Given the description of an element on the screen output the (x, y) to click on. 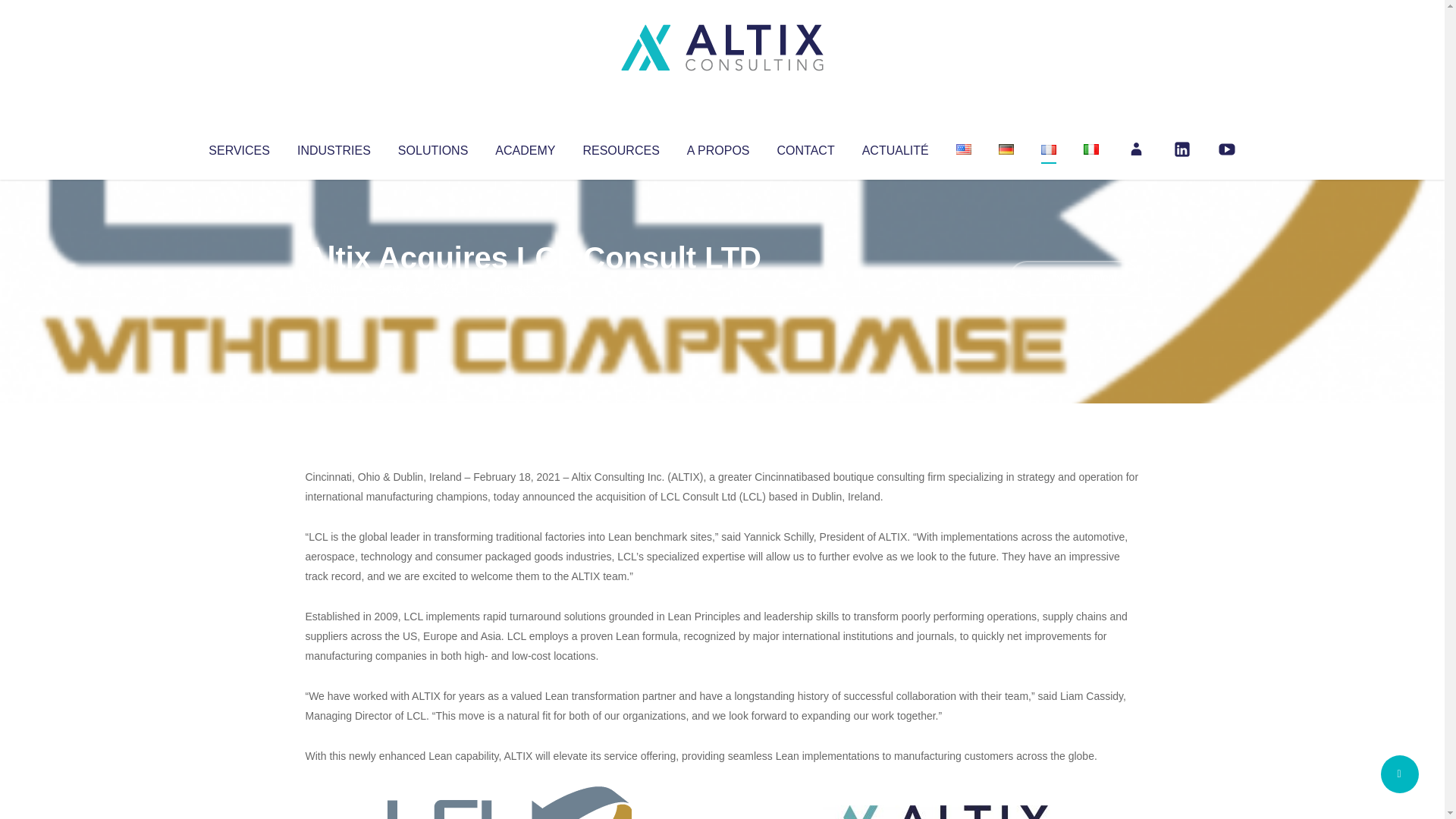
ACADEMY (524, 146)
No Comments (1073, 278)
INDUSTRIES (334, 146)
Uncategorized (530, 287)
SERVICES (238, 146)
Articles par Altix (333, 287)
Altix (333, 287)
RESOURCES (620, 146)
SOLUTIONS (432, 146)
A PROPOS (718, 146)
